Given the description of an element on the screen output the (x, y) to click on. 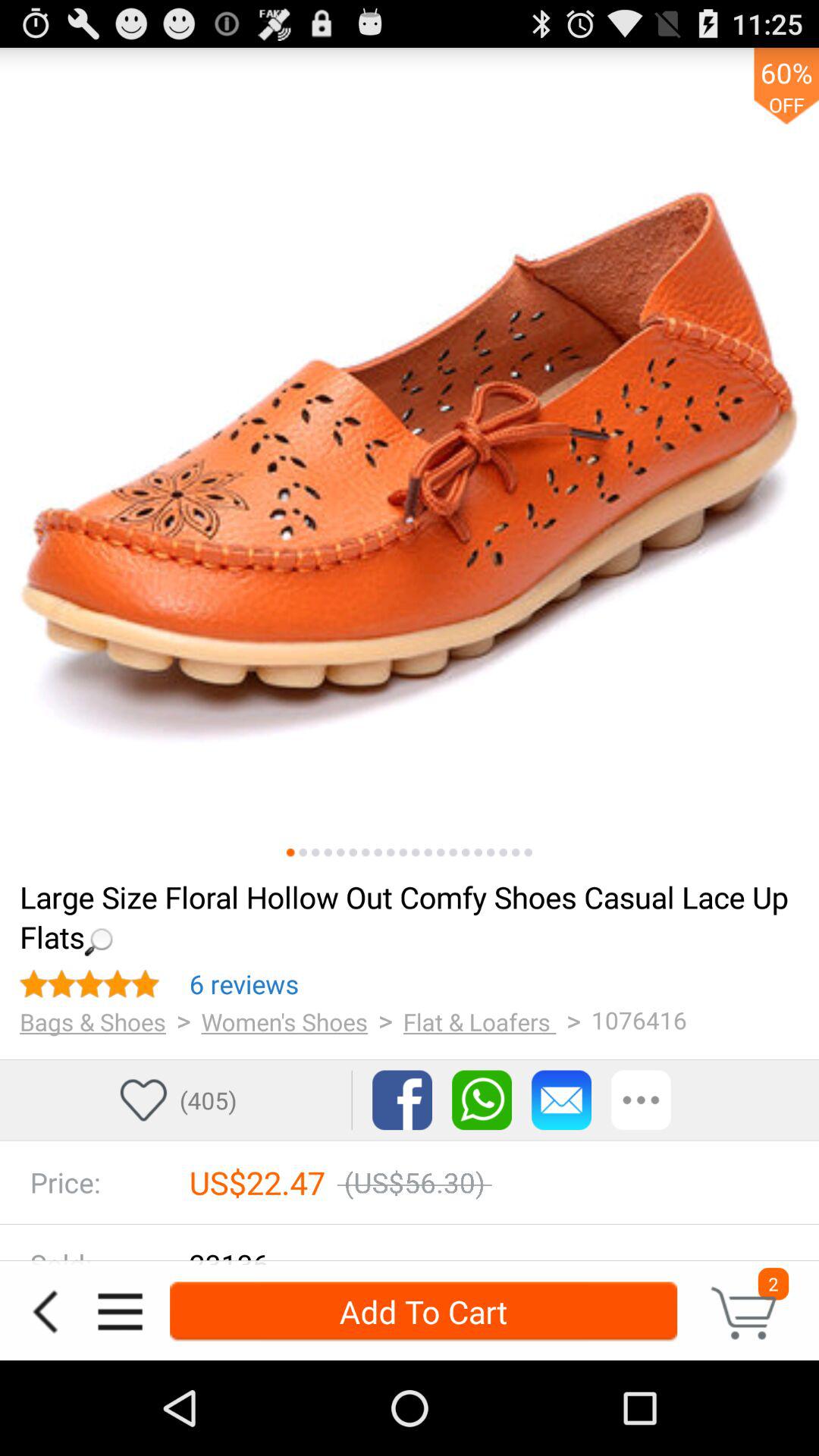
next picture (440, 852)
